Given the description of an element on the screen output the (x, y) to click on. 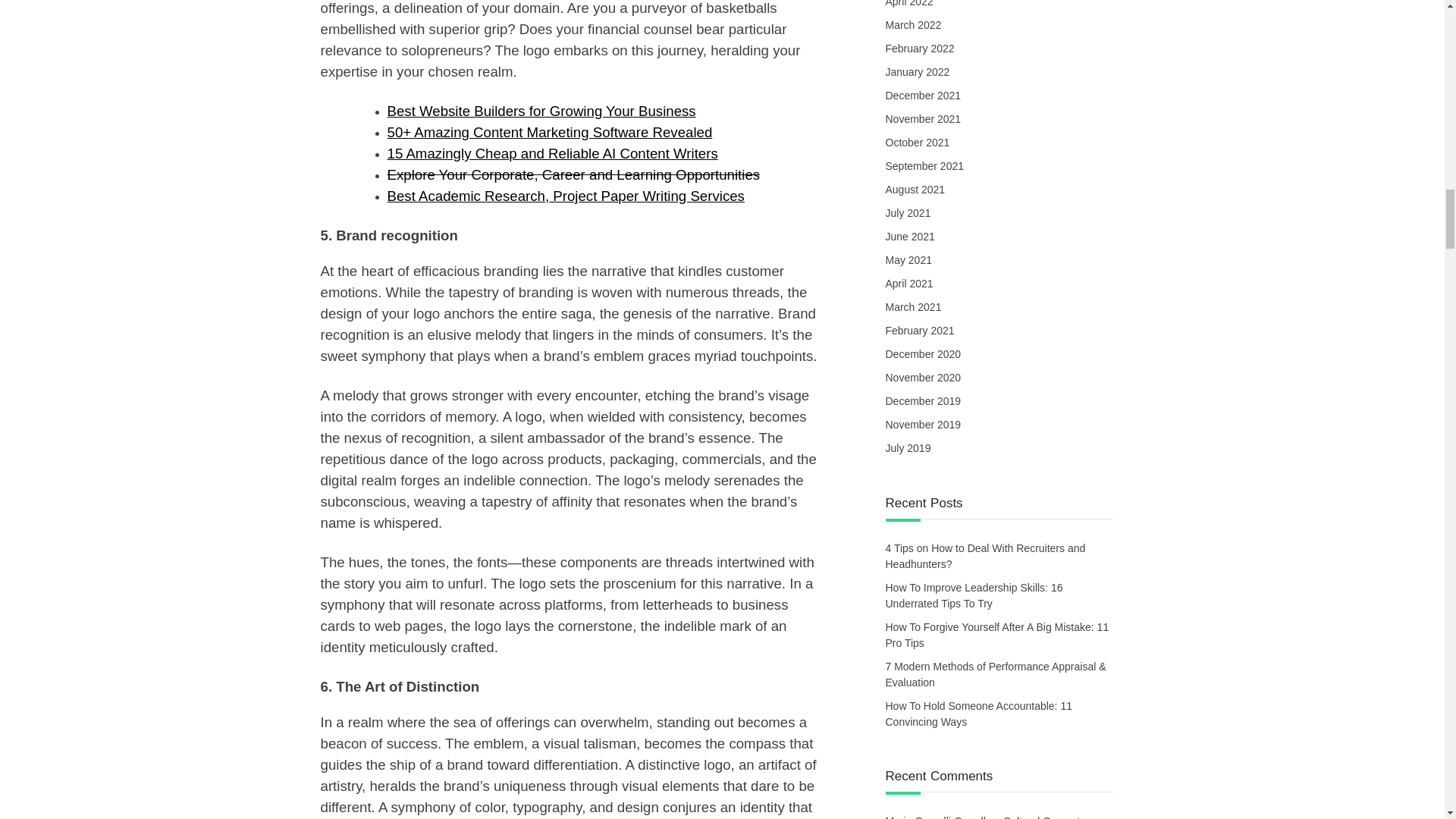
Explore Your Corporate, Career and Learning Opportunities (573, 174)
Best Website Builders for Growing Your Business (541, 110)
Best Academic Research, Project Paper Writing Services (565, 195)
15 Amazingly Cheap and Reliable AI Content Writers (552, 153)
